Given the description of an element on the screen output the (x, y) to click on. 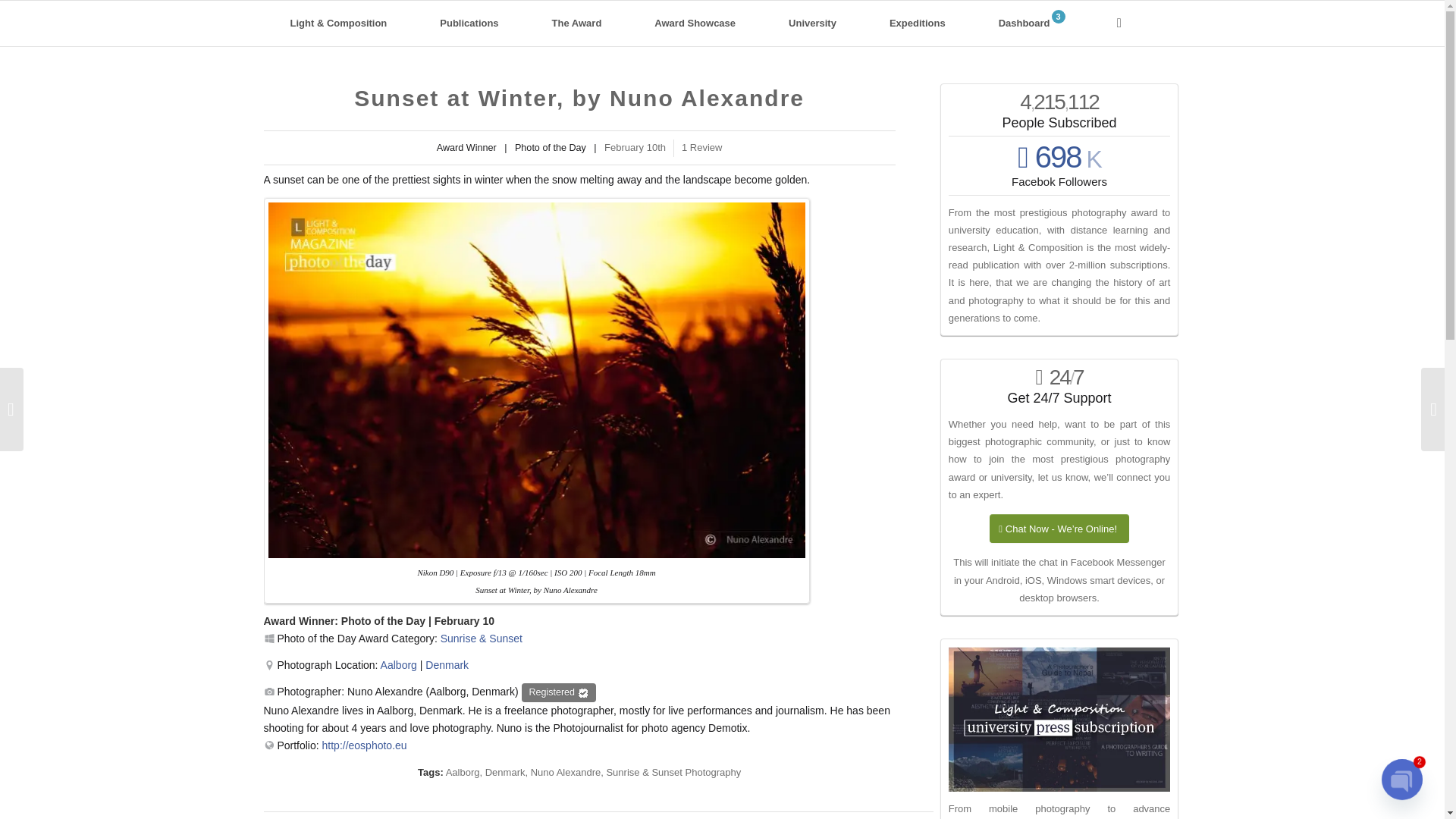
1 Review (701, 147)
Denmark (504, 772)
Dashboard (1031, 22)
Nuno Alexandre (566, 772)
Publications (468, 22)
Expeditions (917, 22)
Aalborg (462, 772)
Aalborg (398, 664)
The Award (576, 22)
Click to Get Registered (558, 692)
Registered (558, 692)
Denmark (446, 664)
Award Showcase (694, 22)
Photo of the Day (382, 621)
